Given the description of an element on the screen output the (x, y) to click on. 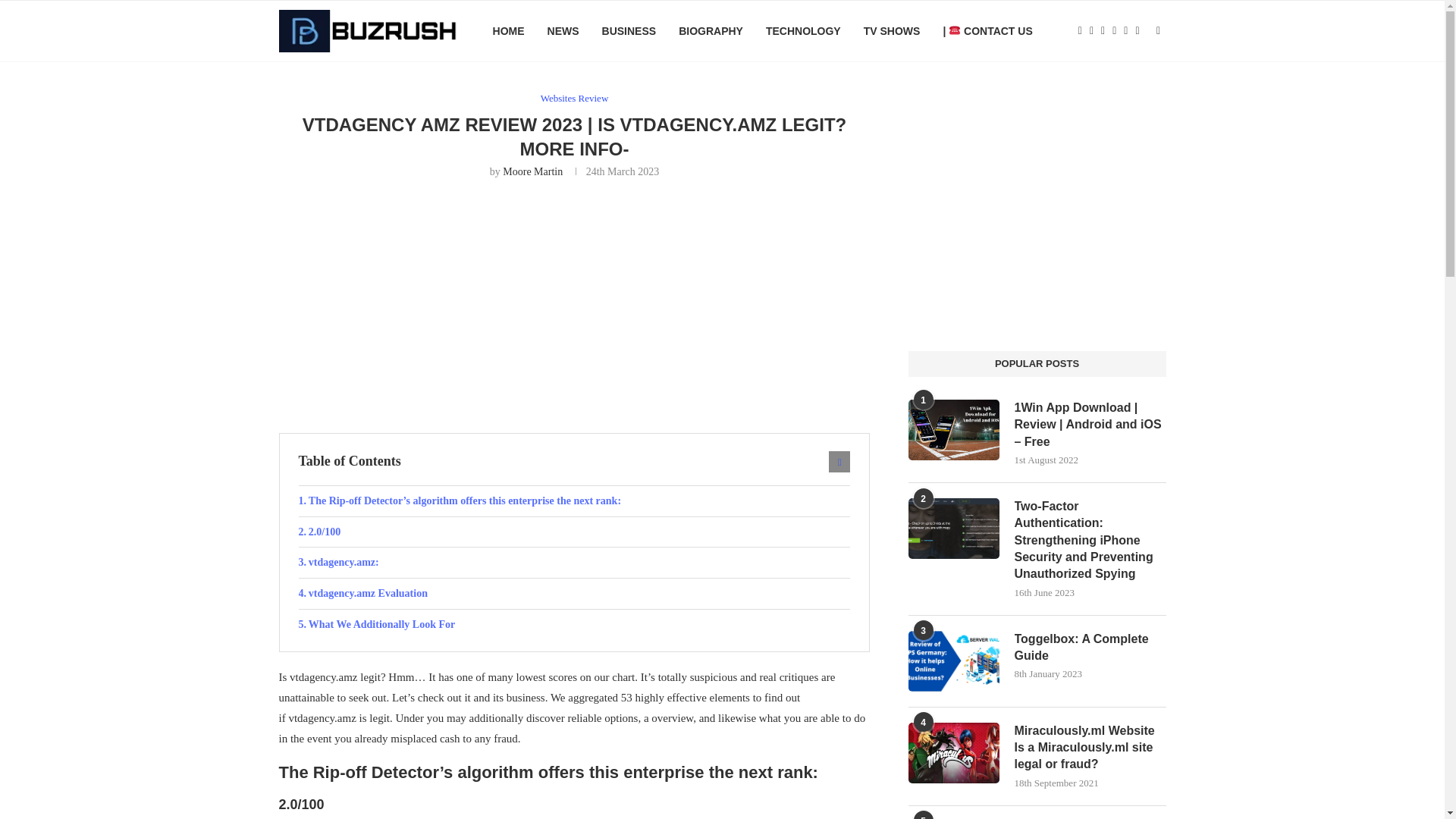
vtdagency.amz: (574, 562)
BUSINESS (629, 30)
Websites Review (574, 98)
Moore Martin (532, 171)
What We Additionally Look For (574, 624)
What We Additionally Look For (574, 624)
BIOGRAPHY (710, 30)
TECHNOLOGY (803, 30)
vtdagency.amz Evaluation (574, 593)
Advertisement (574, 304)
TV SHOWS (891, 30)
vtdagency.amz: (574, 562)
